Given the description of an element on the screen output the (x, y) to click on. 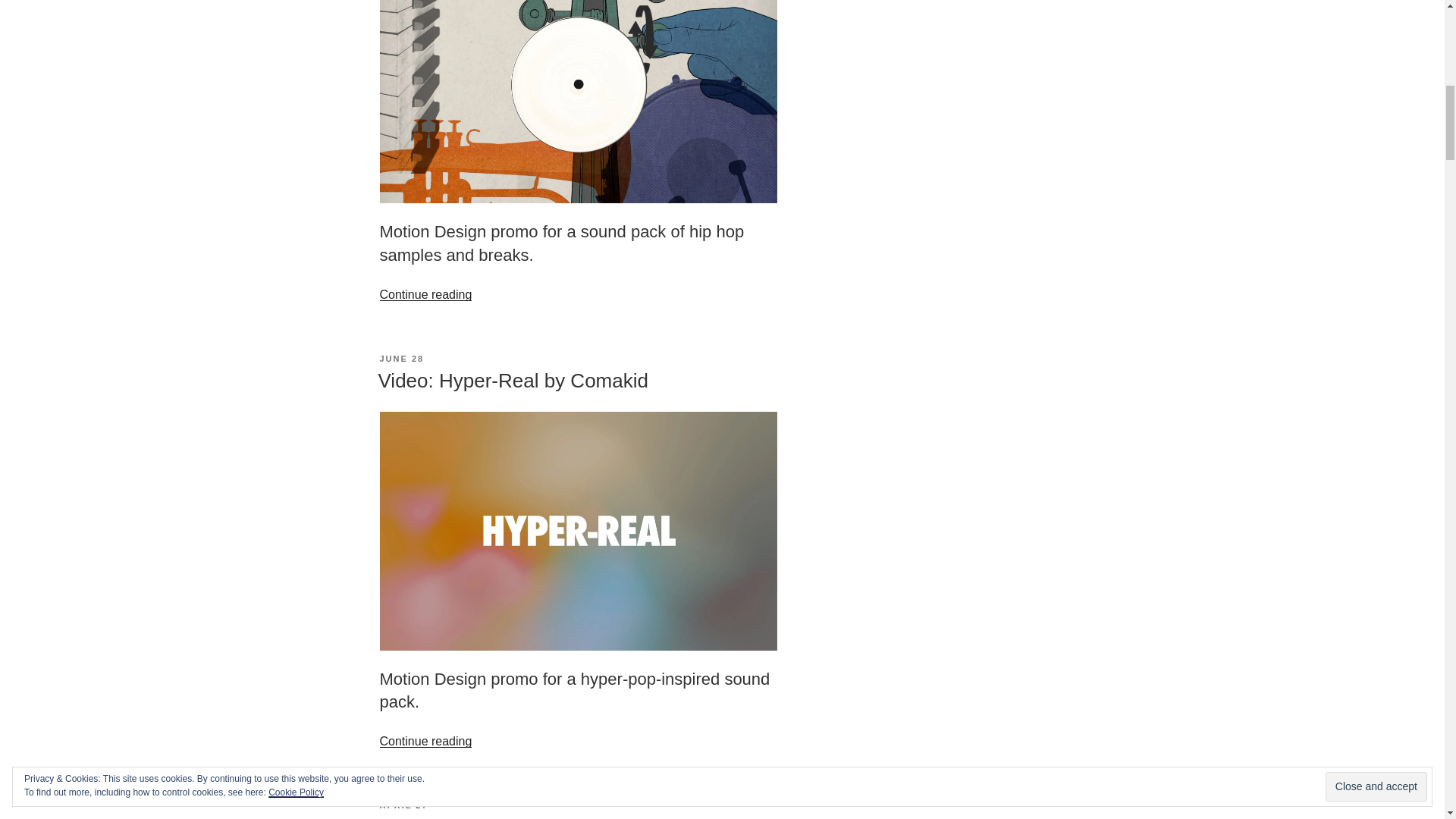
Video: Nostalgique (460, 817)
APRIL 27 (403, 804)
JUNE 28 (400, 358)
Video: Hyper-Real by Comakid (512, 380)
